Given the description of an element on the screen output the (x, y) to click on. 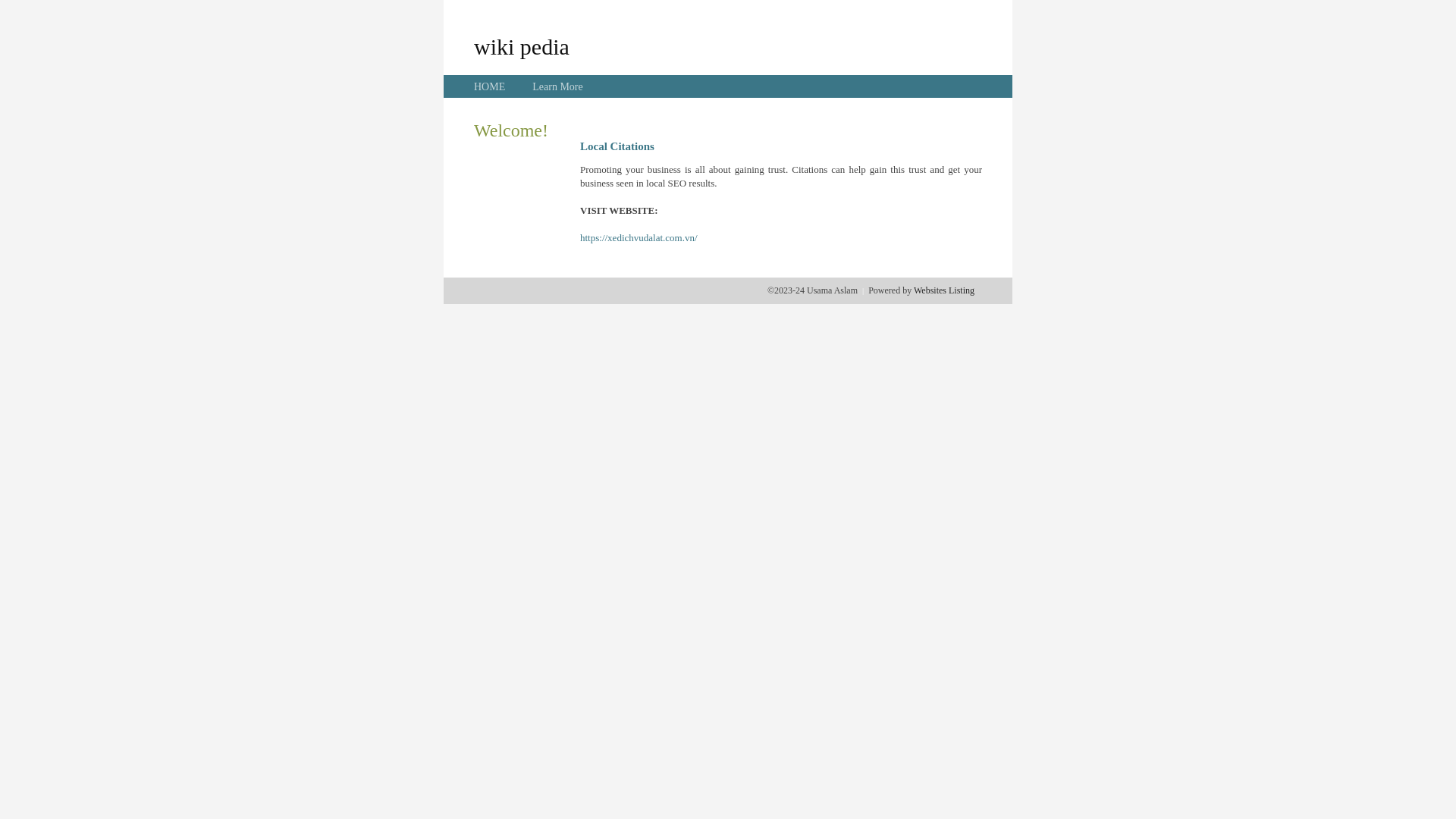
https://xedichvudalat.com.vn/ Element type: text (638, 237)
HOME Element type: text (489, 86)
Learn More Element type: text (557, 86)
Websites Listing Element type: text (943, 290)
wiki pedia Element type: text (521, 46)
